Given the description of an element on the screen output the (x, y) to click on. 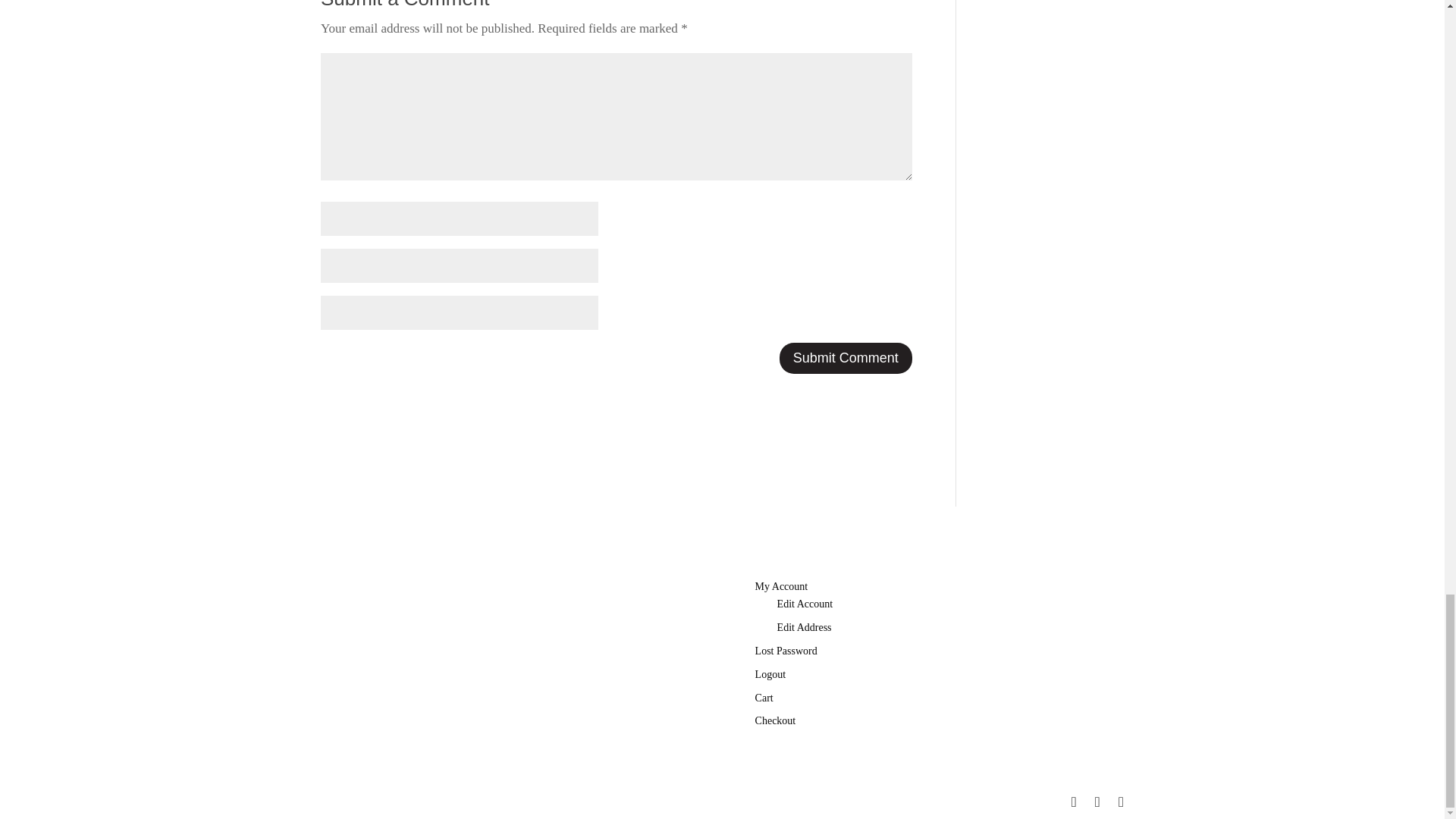
Edit Account (804, 603)
Logout (770, 674)
Submit Comment (845, 358)
My Account (781, 586)
Cart (764, 697)
Edit Address (804, 627)
Lost Password (785, 650)
Checkout (775, 720)
Submit Comment (845, 358)
